Given the description of an element on the screen output the (x, y) to click on. 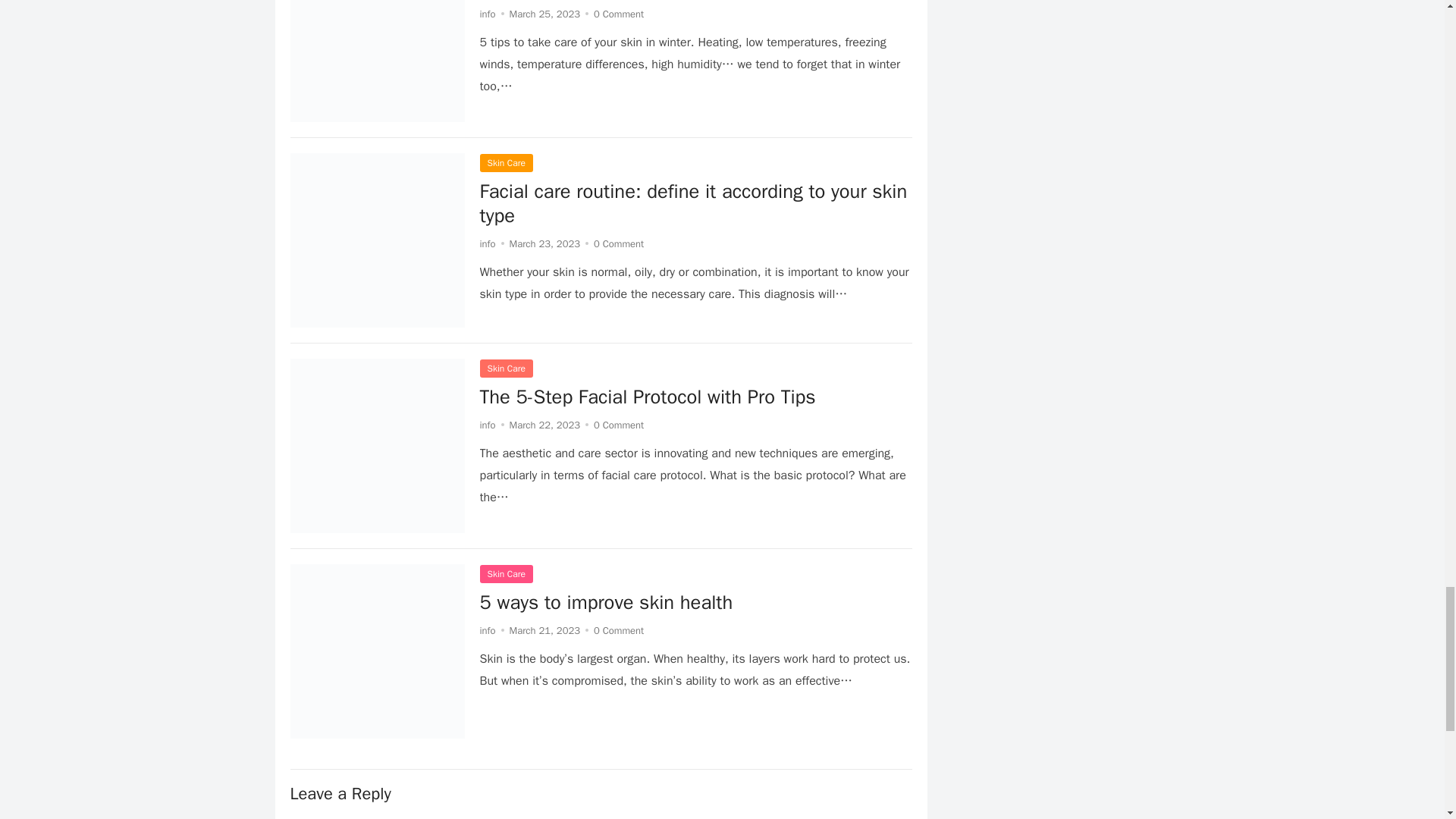
Posts by info (487, 424)
Posts by info (487, 630)
Posts by info (487, 13)
Posts by info (487, 243)
